Given the description of an element on the screen output the (x, y) to click on. 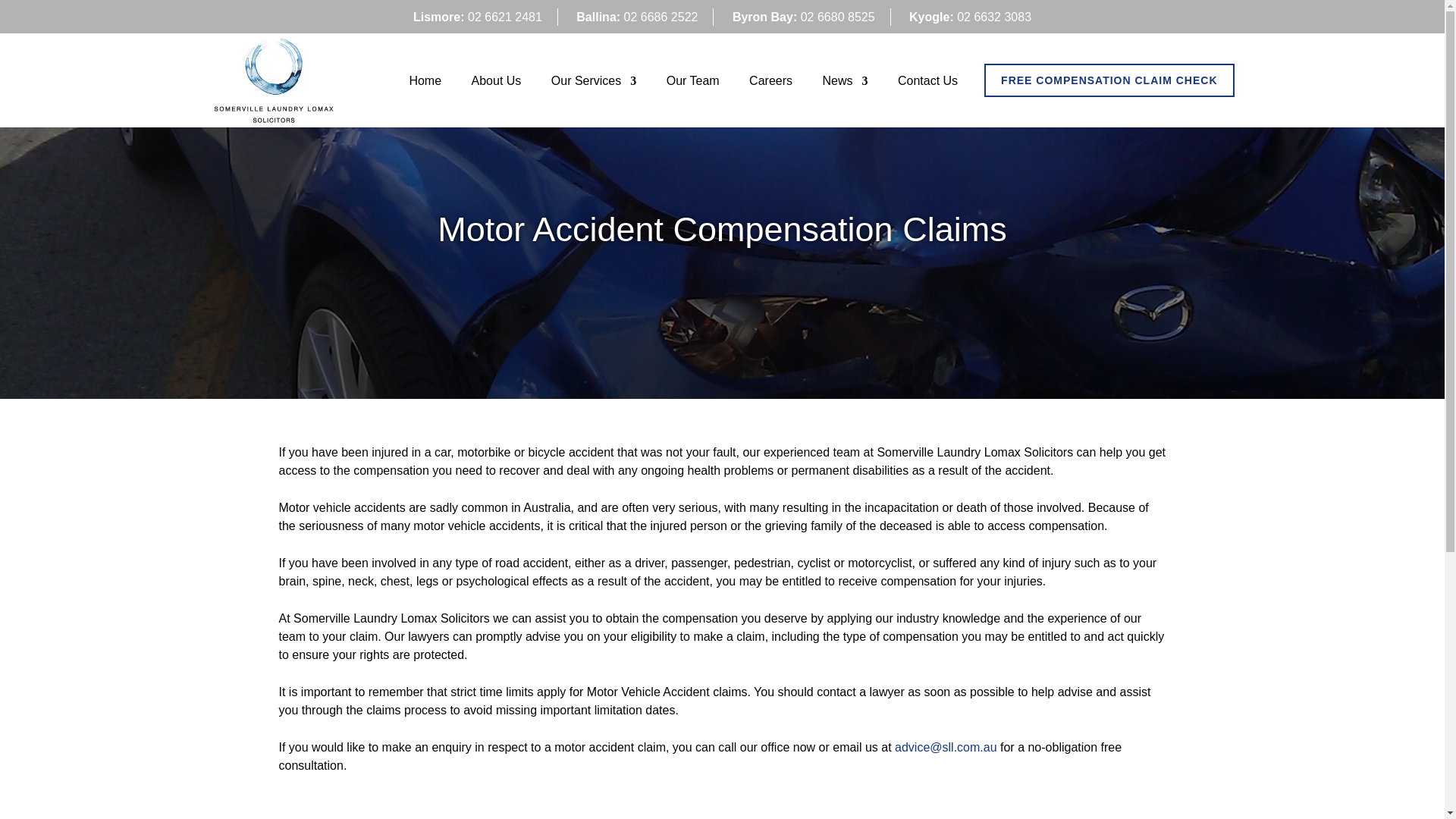
About Us (496, 85)
Careers (770, 85)
Home (425, 85)
Contact Us (928, 85)
02 6680 8525 (837, 16)
02 6686 2522 (661, 16)
FREE COMPENSATION CLAIM CHECK (1108, 80)
Our Team (692, 85)
News (844, 85)
02 6632 3083 (993, 16)
02 6621 2481 (504, 16)
Our Services (593, 85)
